Given the description of an element on the screen output the (x, y) to click on. 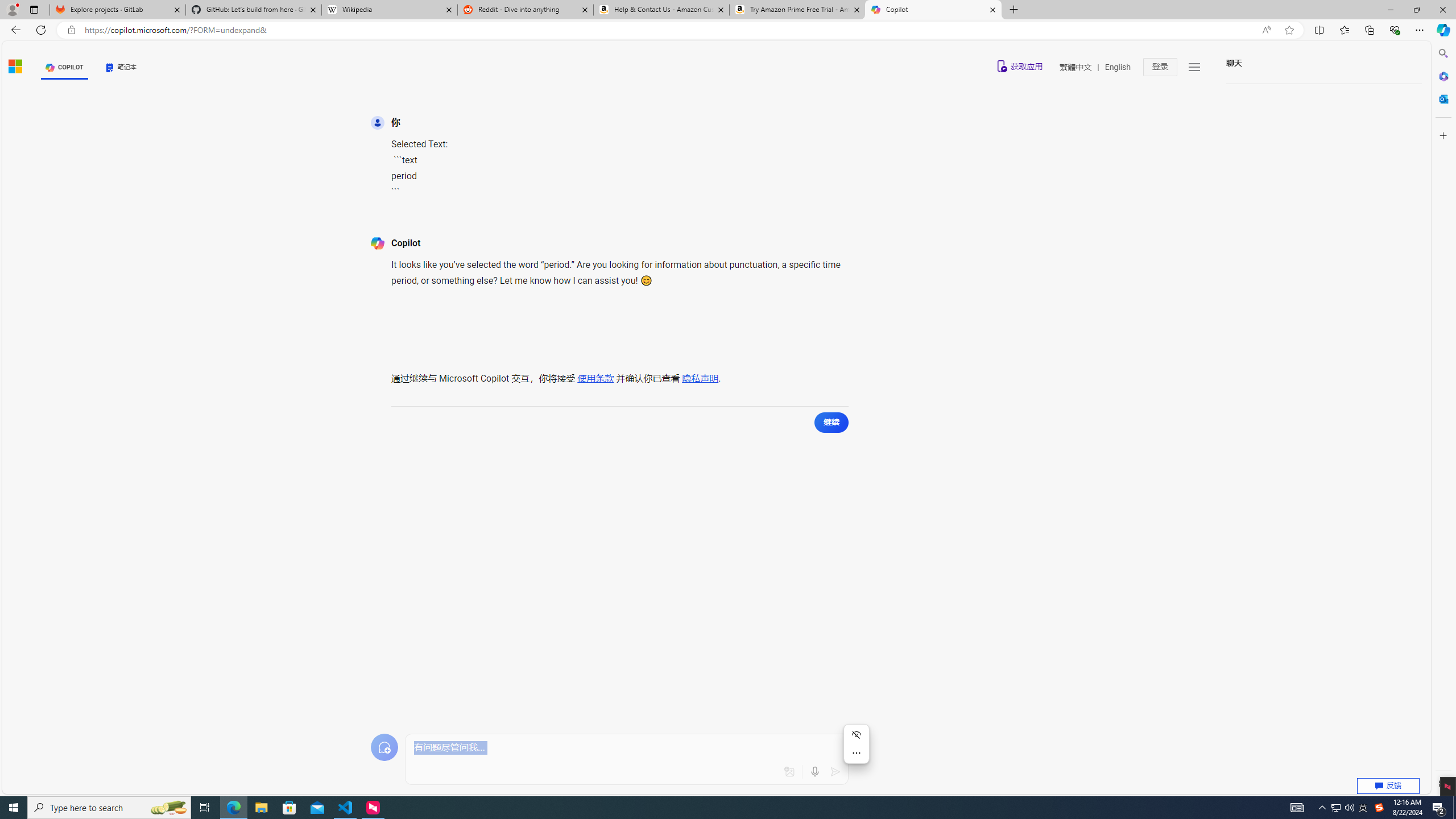
COPILOT (64, 67)
Mini menu on text selection (856, 750)
